Given the description of an element on the screen output the (x, y) to click on. 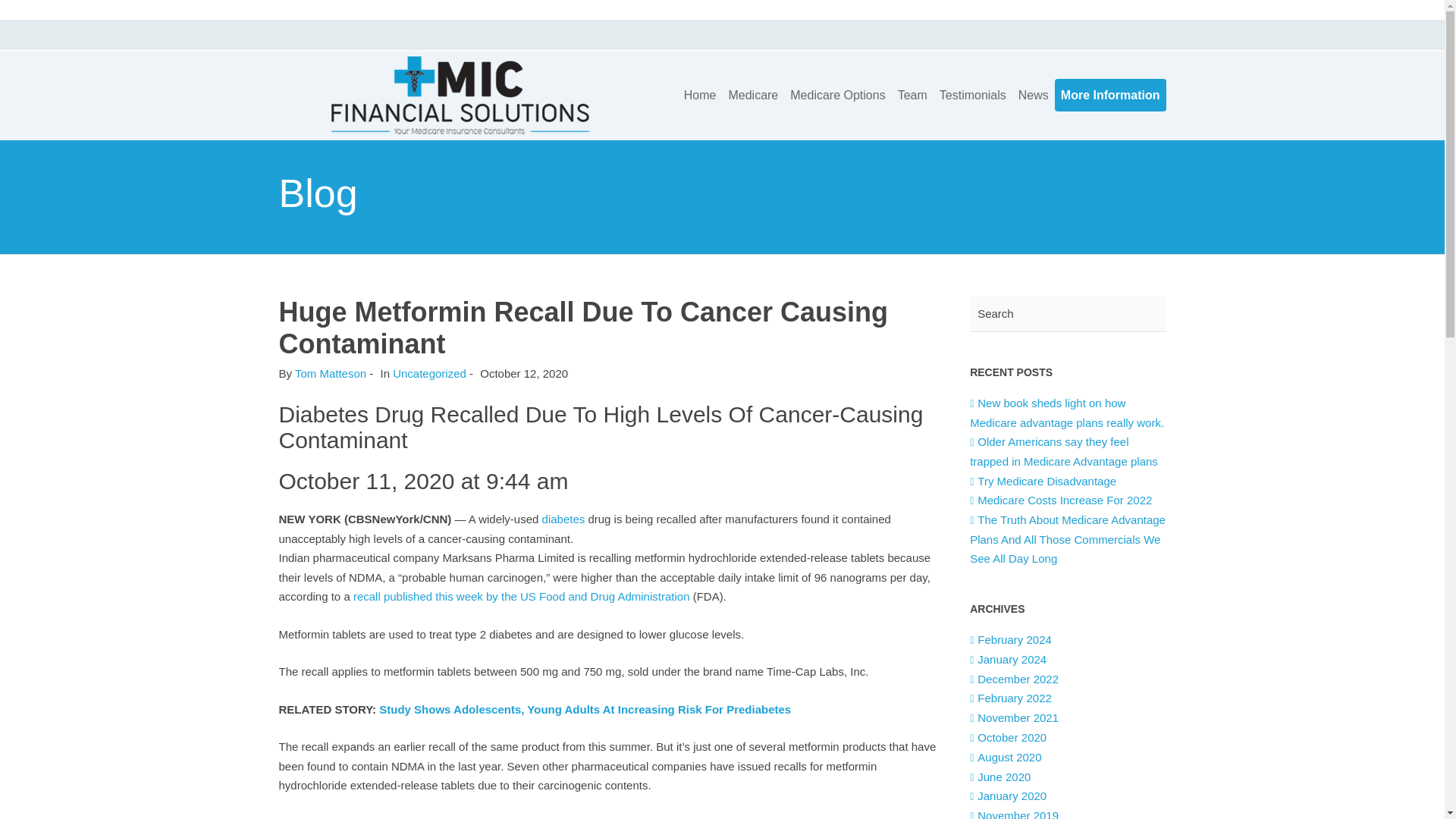
Posts by Tom Matteson (330, 373)
Try Medicare Disadvantage (1042, 481)
October 2020 (1007, 737)
Uncategorized (429, 373)
Medicare Options (837, 94)
News (1032, 94)
Medicare Costs Increase For 2022 (1060, 499)
MIC Financial (460, 92)
still investigating where NDMA comes from (445, 817)
Tom Matteson (330, 373)
